Given the description of an element on the screen output the (x, y) to click on. 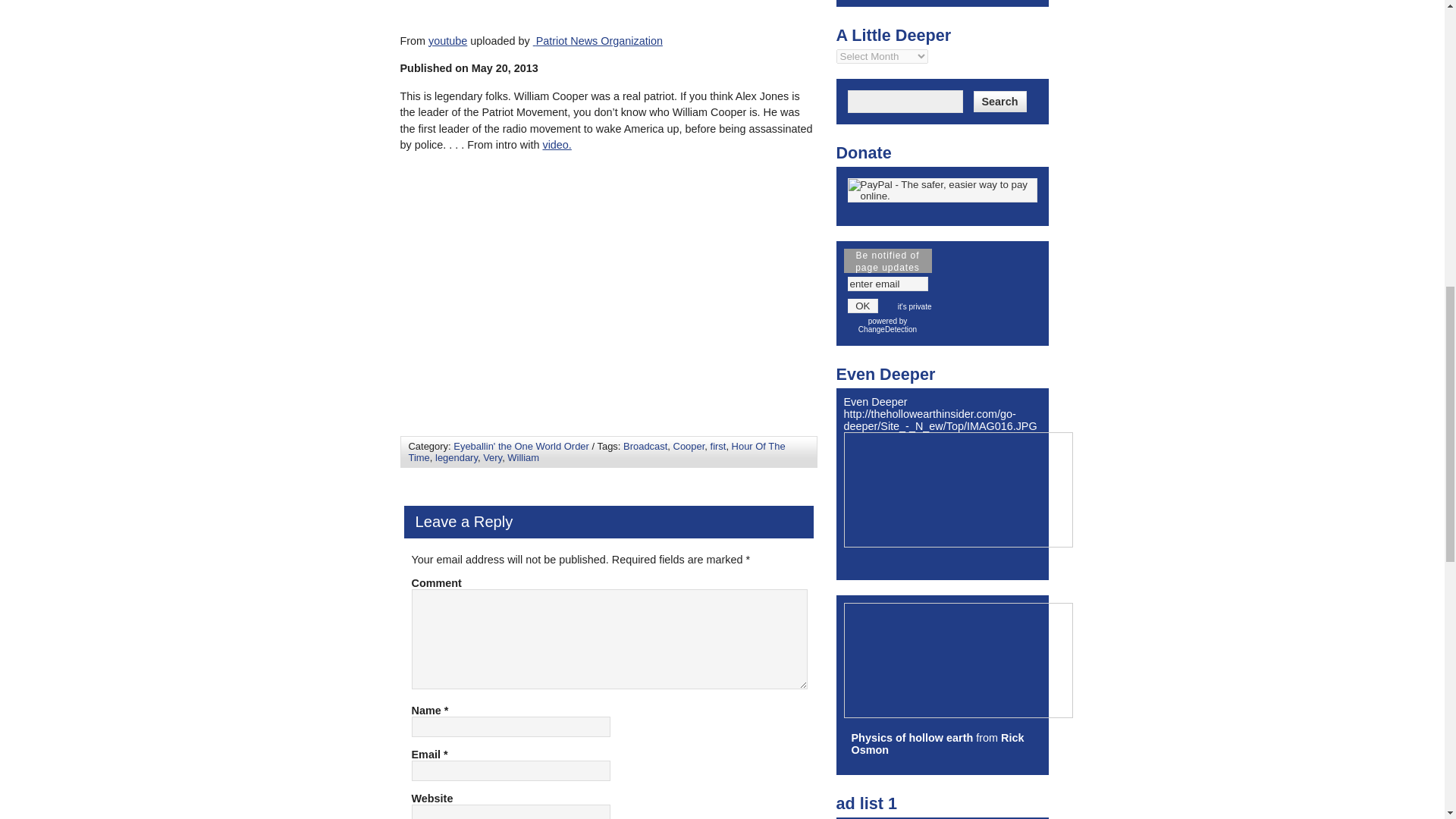
Physics of Hollow Earth (911, 737)
youtube (447, 40)
 OK  (863, 305)
Very (492, 457)
first (718, 446)
Search (1000, 101)
video. (555, 144)
Patriot News Organization (598, 40)
Hour Of The Time (595, 451)
William (522, 457)
enter email (887, 283)
legendary (456, 457)
Broadcast (644, 446)
Cooper (688, 446)
Eyeballin' the One World Order (520, 446)
